Given the description of an element on the screen output the (x, y) to click on. 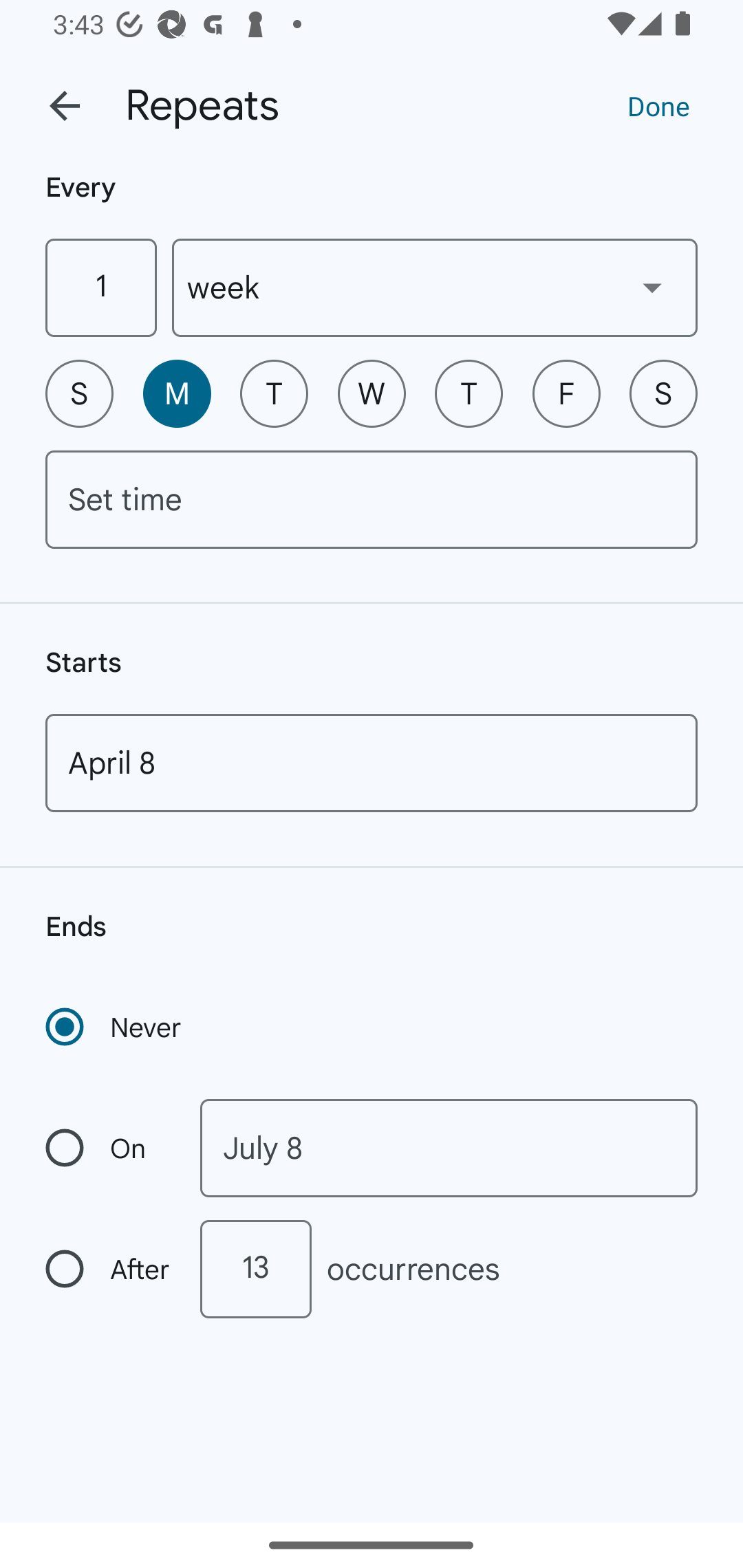
Back (64, 105)
Done (658, 105)
1 (100, 287)
week (434, 287)
Show dropdown menu (652, 286)
S Sunday (79, 393)
M Monday, selected (177, 393)
T Tuesday (273, 393)
W Wednesday (371, 393)
T Thursday (468, 393)
F Friday (566, 393)
S Saturday (663, 393)
Set time (371, 499)
April 8 (371, 762)
Never Recurrence never ends (115, 1026)
July 8 (448, 1148)
On Recurrence ends on a specific date (109, 1148)
13 (255, 1268)
